Given the description of an element on the screen output the (x, y) to click on. 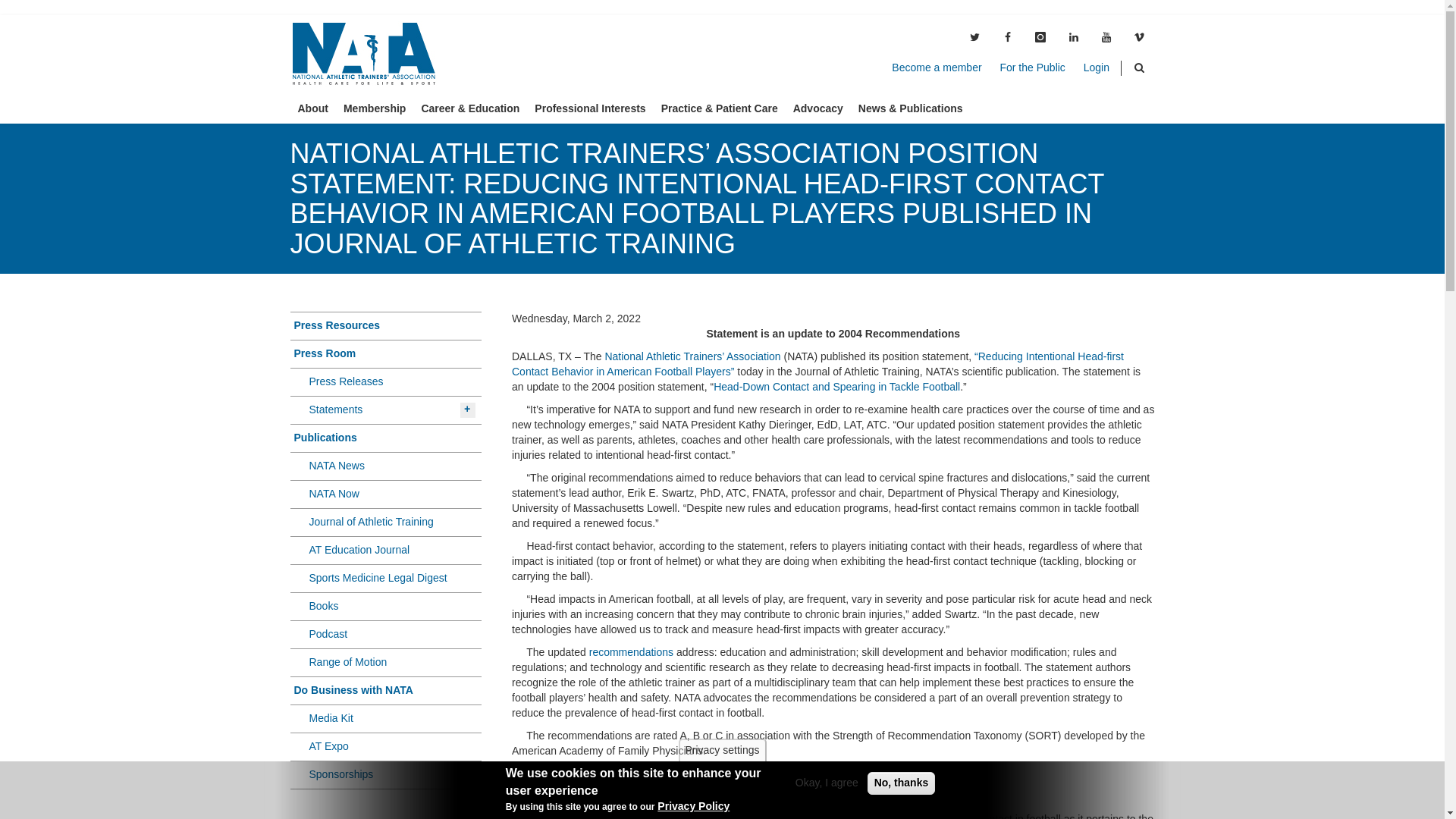
For the Public (1031, 67)
icon-linkedin (1073, 37)
Become a member (936, 67)
icon-facebook (1007, 37)
social-instagram (1040, 37)
Advocacy (818, 108)
icon-twitter (973, 37)
Home (368, 53)
About (311, 108)
Membership (374, 108)
Professional Interests (589, 108)
Login (1096, 67)
social-youtube-1 (1106, 37)
icon-vimeo (1139, 37)
search (1139, 68)
